Given the description of an element on the screen output the (x, y) to click on. 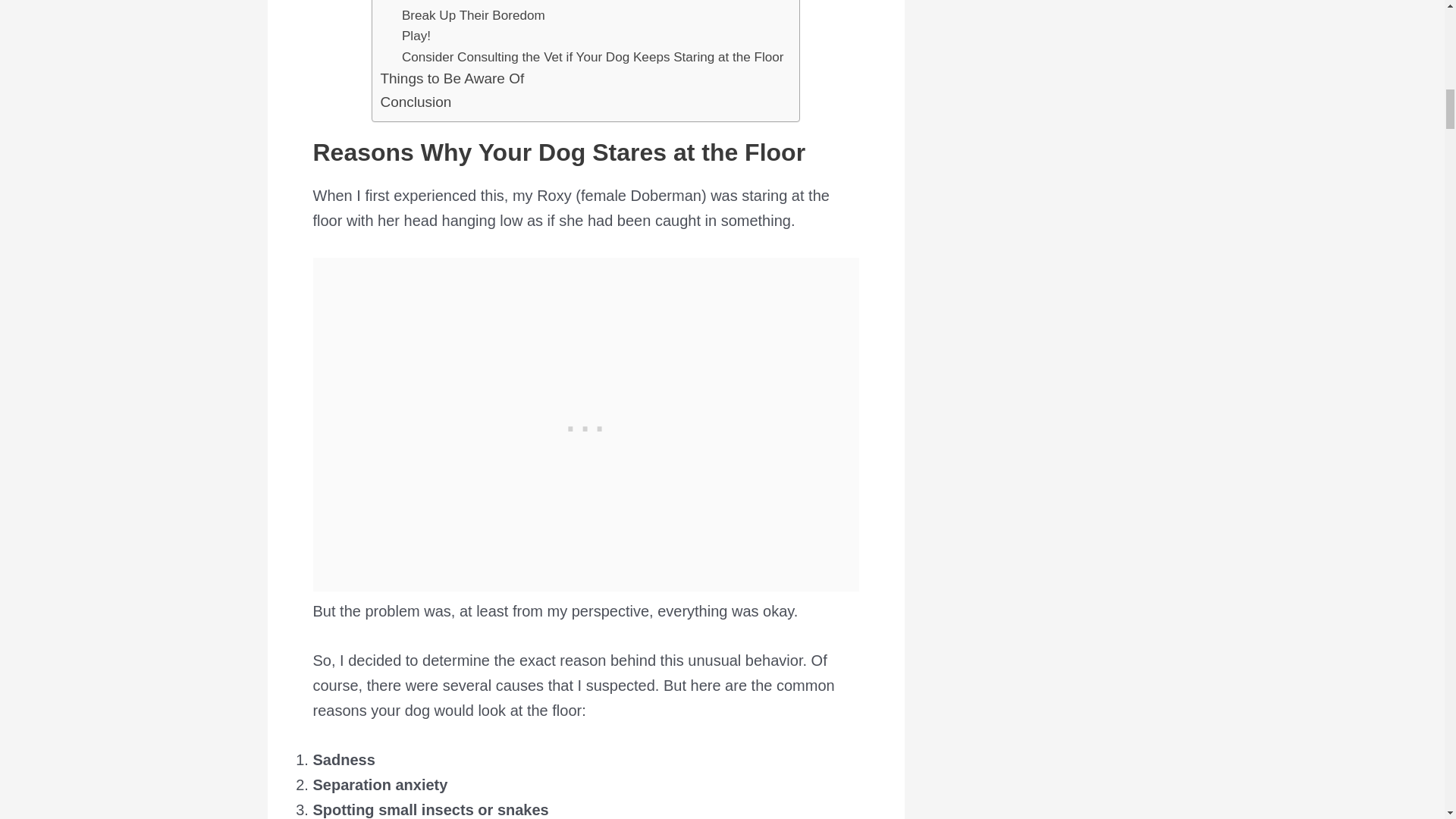
Conclusion (415, 101)
Provide Sufficient Socialization (489, 2)
Play! (415, 35)
Break Up Their Boredom (472, 14)
Things to Be Aware Of (452, 78)
Provide Sufficient Socialization (489, 2)
